Given the description of an element on the screen output the (x, y) to click on. 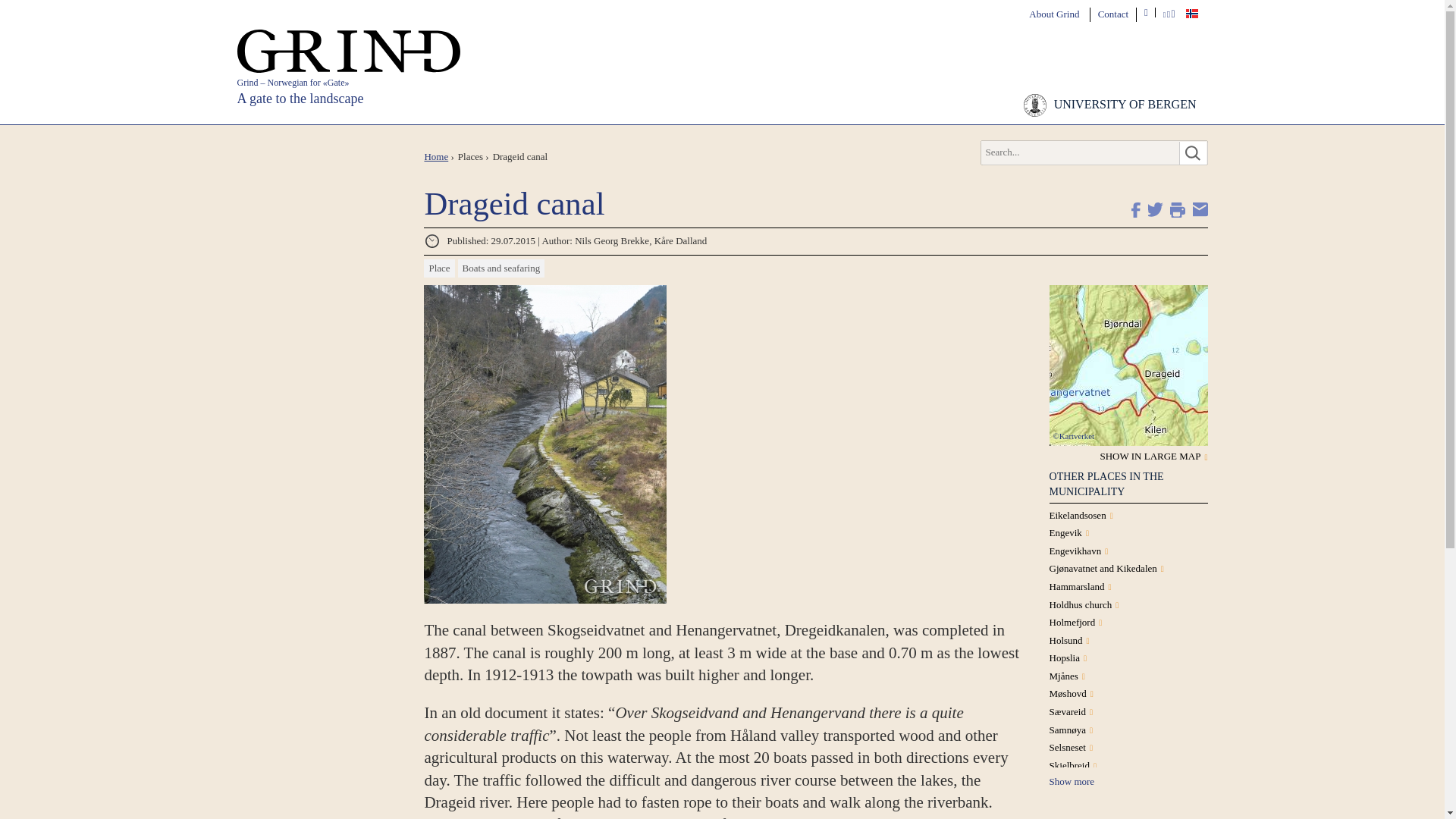
About Grind (1053, 13)
SHOW IN LARGE MAP (1149, 456)
Home (435, 156)
Hammarsland (1077, 586)
Search (1191, 152)
Contact (1112, 13)
Place (438, 268)
Print this webpage (1177, 209)
Universitetet i Bergen (1109, 105)
Show in large map (1149, 456)
Holmefjord (1072, 622)
Holsund (1066, 640)
Share on Facebook (1132, 209)
Engevikhavn (1075, 550)
